Given the description of an element on the screen output the (x, y) to click on. 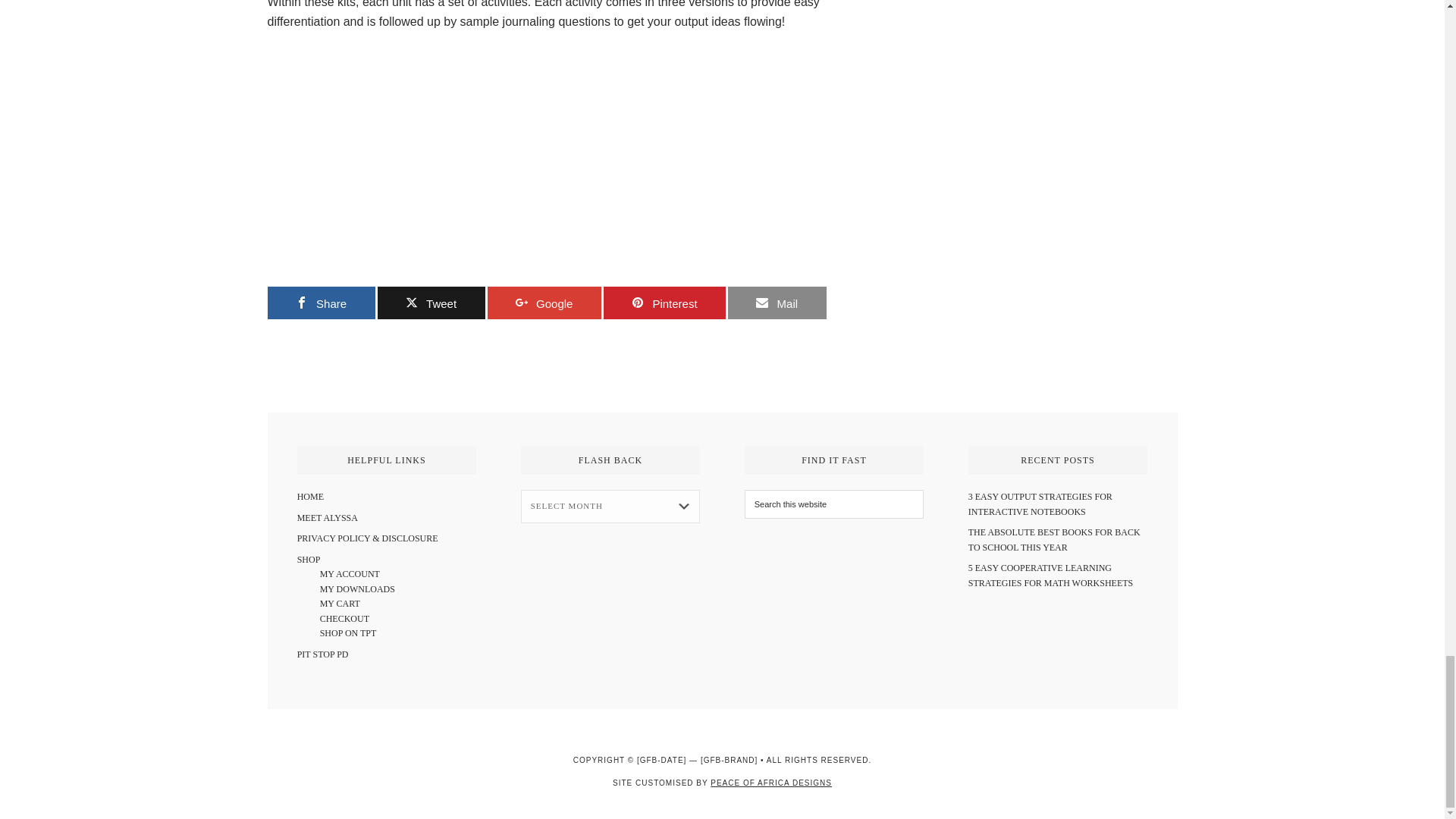
Mail (776, 302)
Google (542, 302)
Share (320, 302)
Pinterest (664, 302)
Tweet (430, 302)
